Given the description of an element on the screen output the (x, y) to click on. 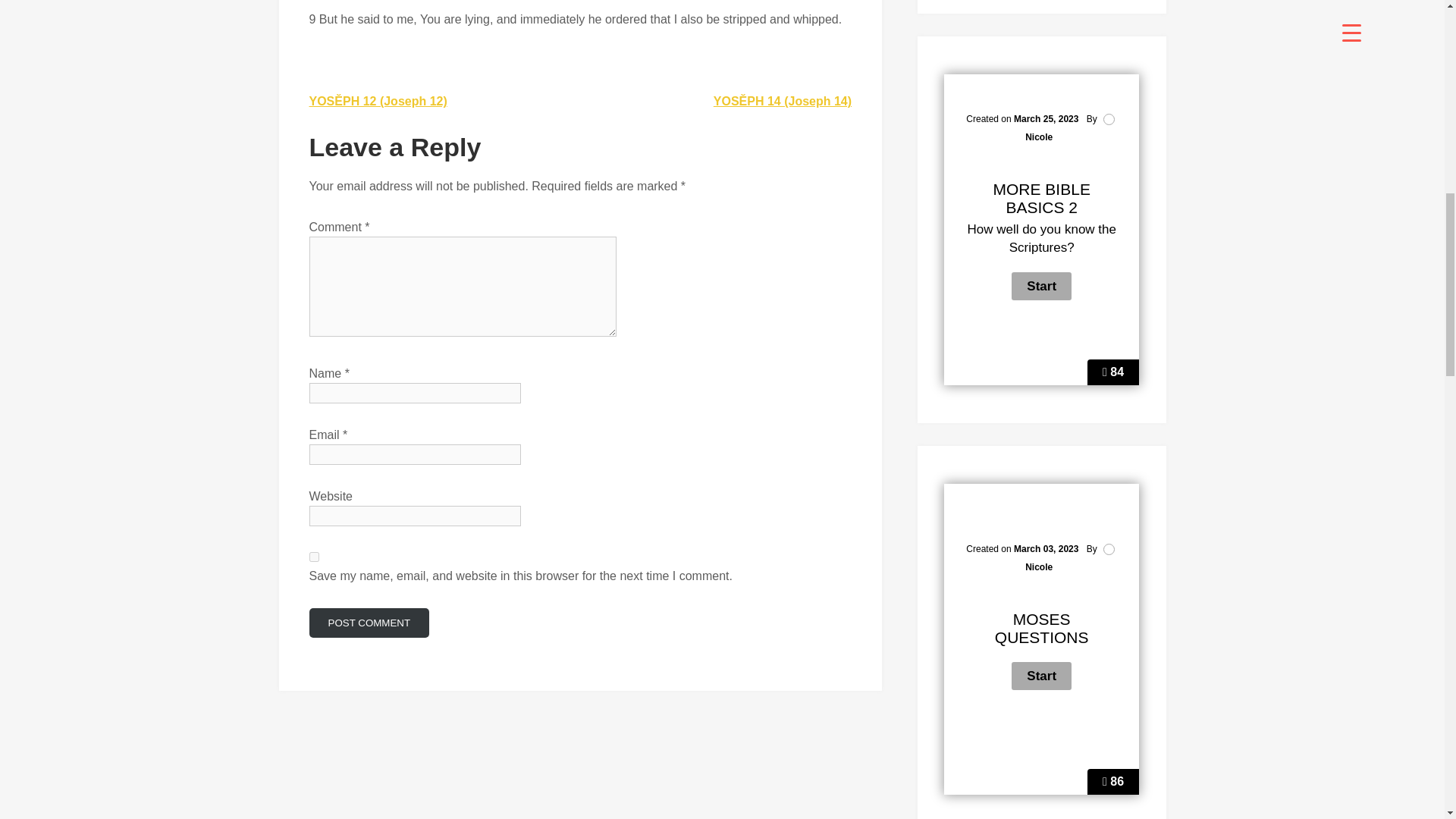
yes (313, 556)
Post Comment (368, 623)
Start (1041, 674)
Start (1041, 285)
